Given the description of an element on the screen output the (x, y) to click on. 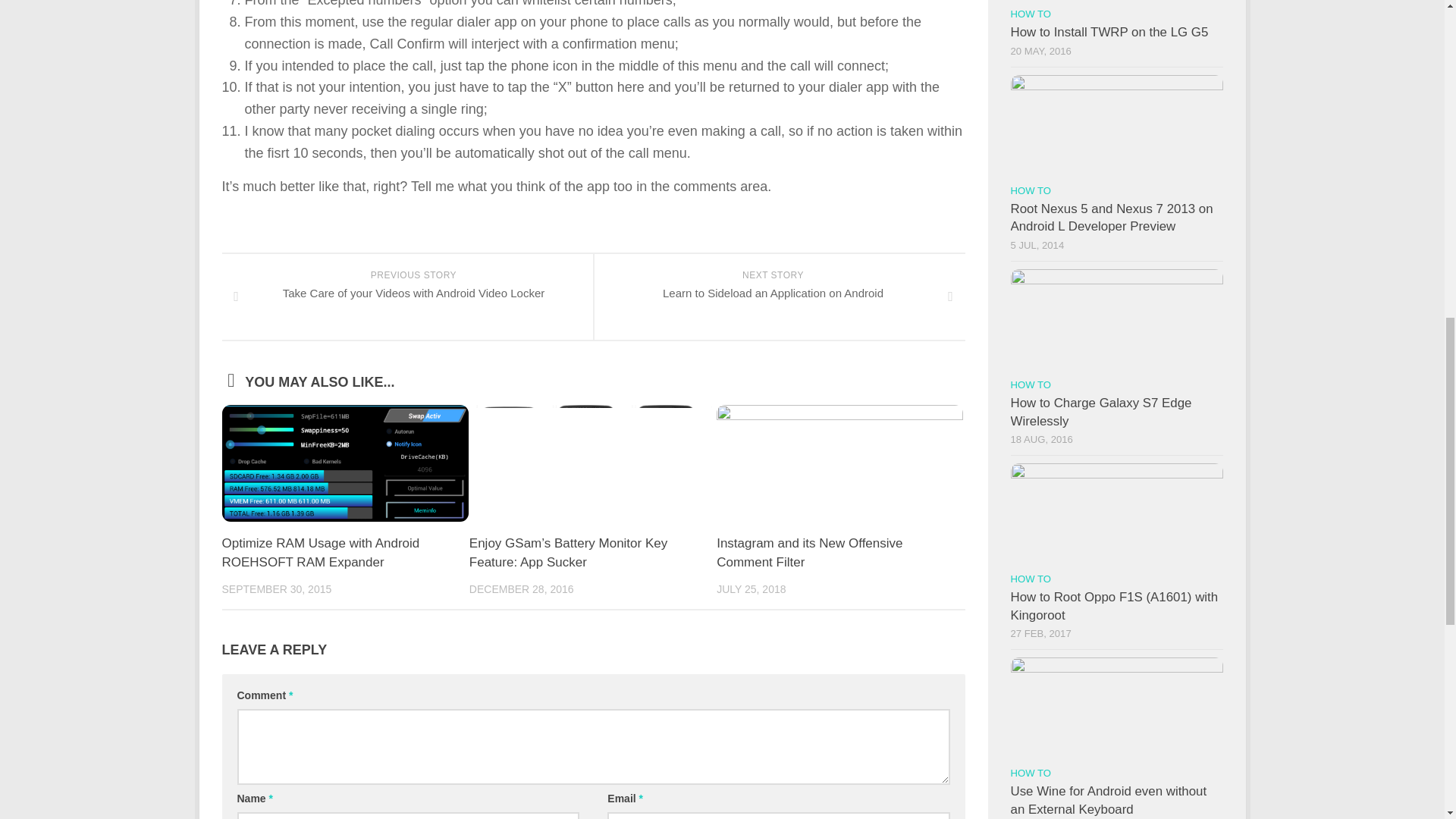
Permalink to Instagram and its New Offensive Comment Filter (809, 553)
Instagram and its New Offensive Comment Filter (809, 553)
Optimize RAM Usage with Android ROEHSOFT RAM Expander (320, 553)
